Given the description of an element on the screen output the (x, y) to click on. 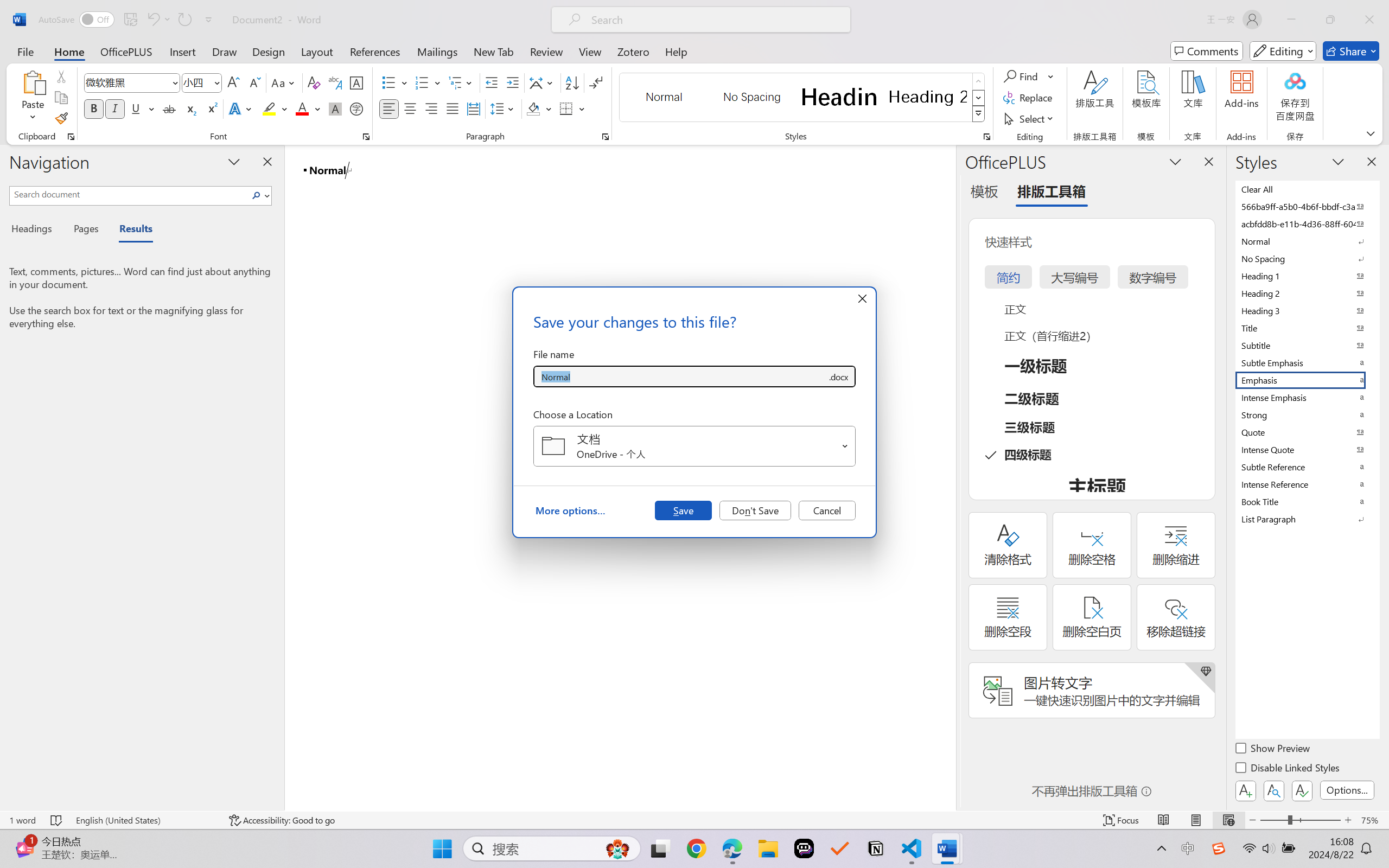
Font... (365, 136)
Shading (539, 108)
Book Title (1306, 501)
Character Shading (334, 108)
Center (409, 108)
Text Highlight Color (274, 108)
Copy (60, 97)
Paste (33, 97)
Zoom Out (1273, 819)
Subtitle (1306, 345)
Insert (182, 51)
Minimize (1291, 19)
File Tab (24, 51)
Search document (128, 193)
Save (682, 509)
